Given the description of an element on the screen output the (x, y) to click on. 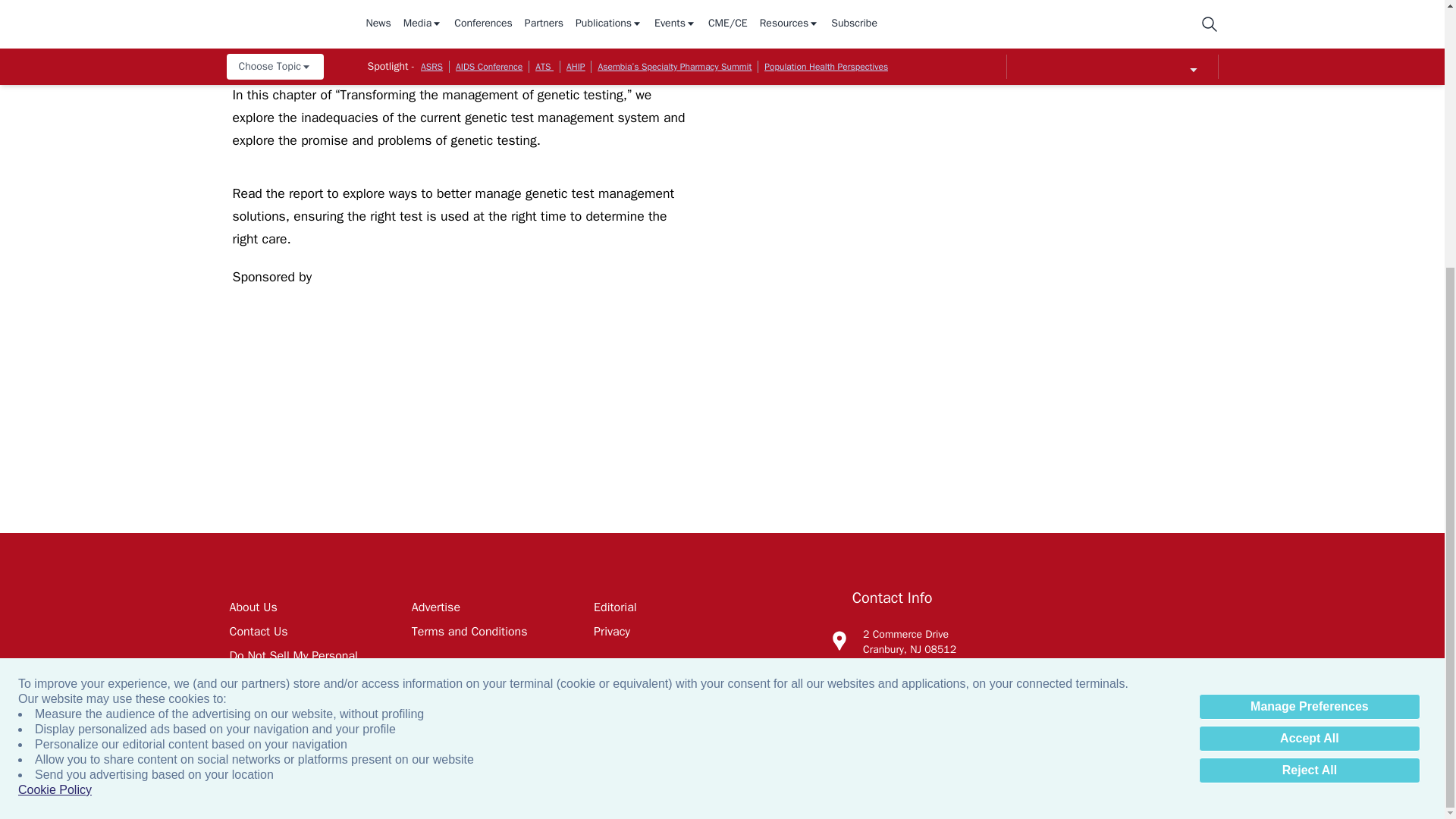
Manage Preferences (1309, 317)
Cookie Policy (54, 400)
Reject All (1309, 380)
Accept All (1309, 349)
